Given the description of an element on the screen output the (x, y) to click on. 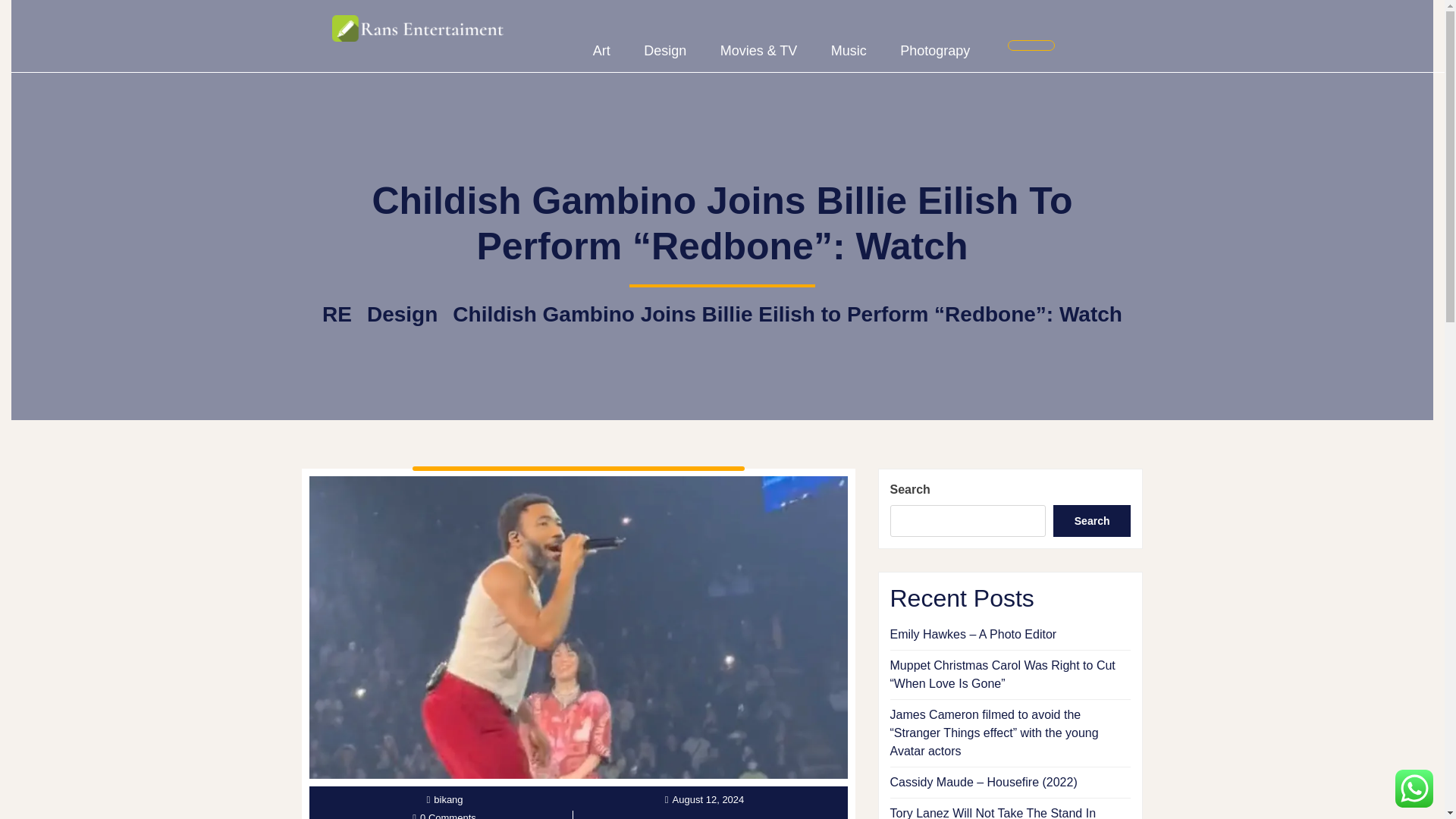
Design (402, 314)
Music (848, 50)
RE (336, 314)
Photograpy (935, 50)
Design (664, 50)
Art (602, 50)
Search (1091, 521)
